Given the description of an element on the screen output the (x, y) to click on. 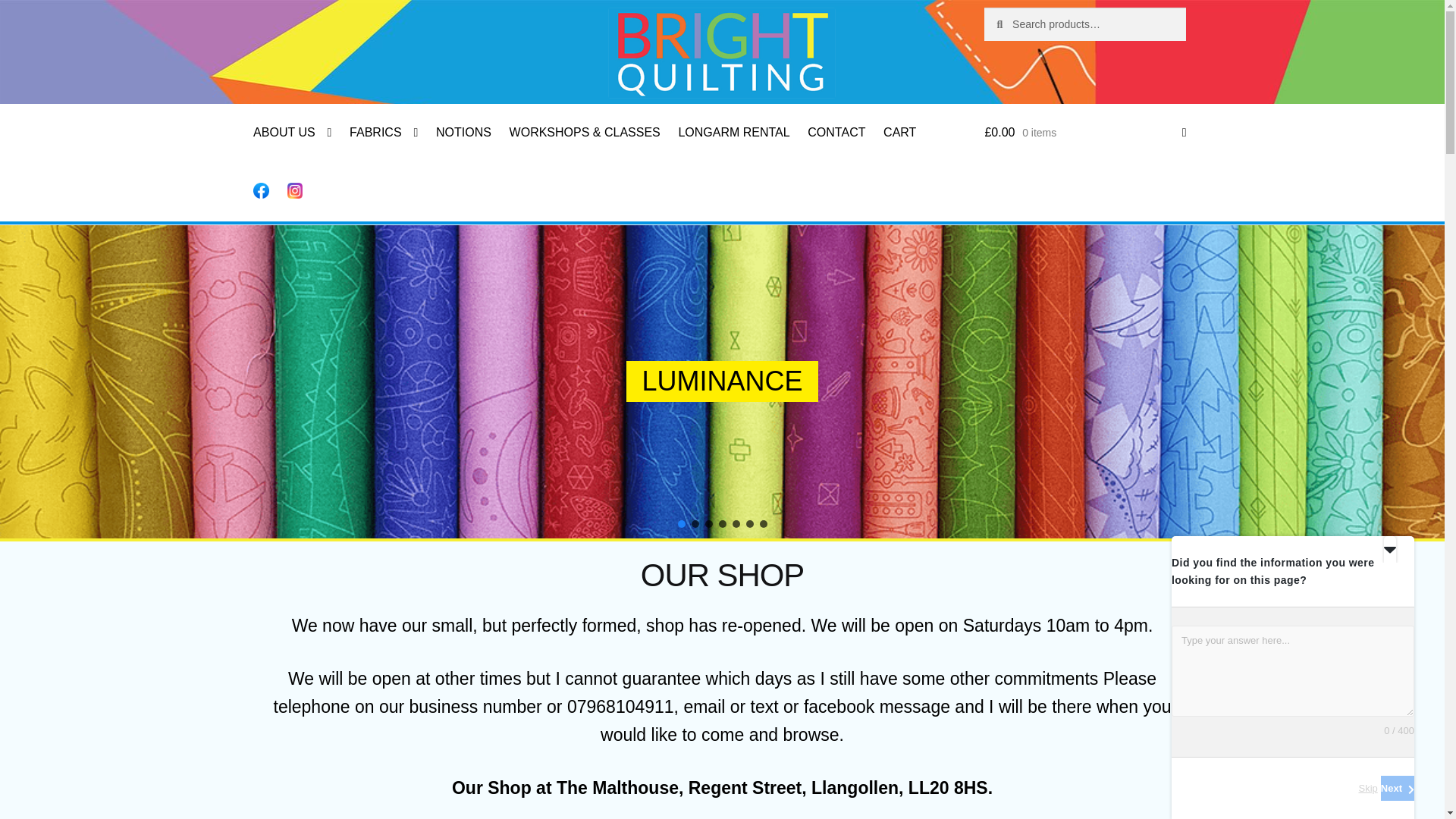
View your shopping cart (1085, 133)
ABOUT US (292, 133)
CONTACT (836, 133)
LONGARM RENTAL (733, 133)
NOTIONS (462, 133)
FABRICS (384, 133)
